Given the description of an element on the screen output the (x, y) to click on. 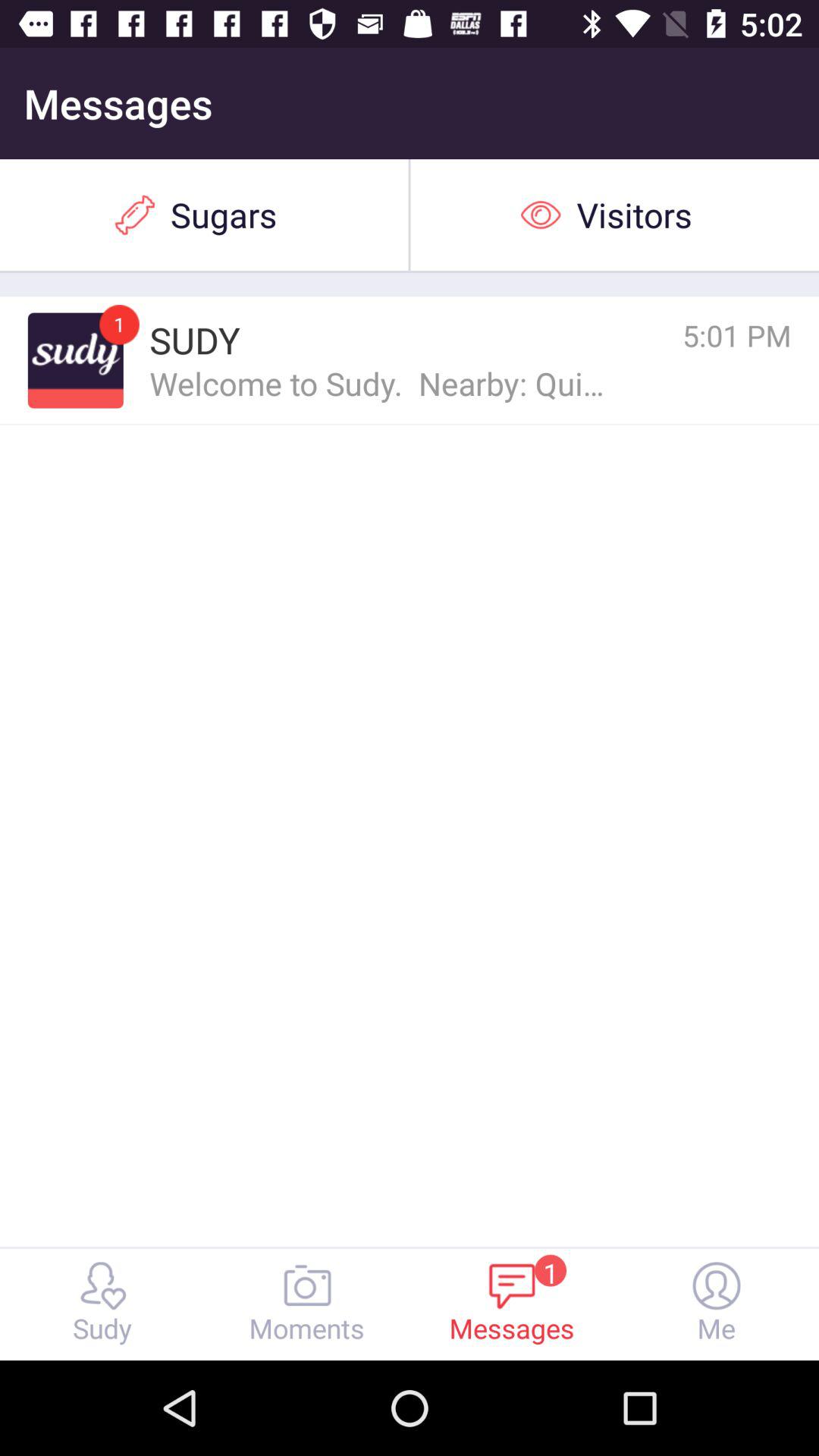
turn off icon to the right of sudy (669, 335)
